Given the description of an element on the screen output the (x, y) to click on. 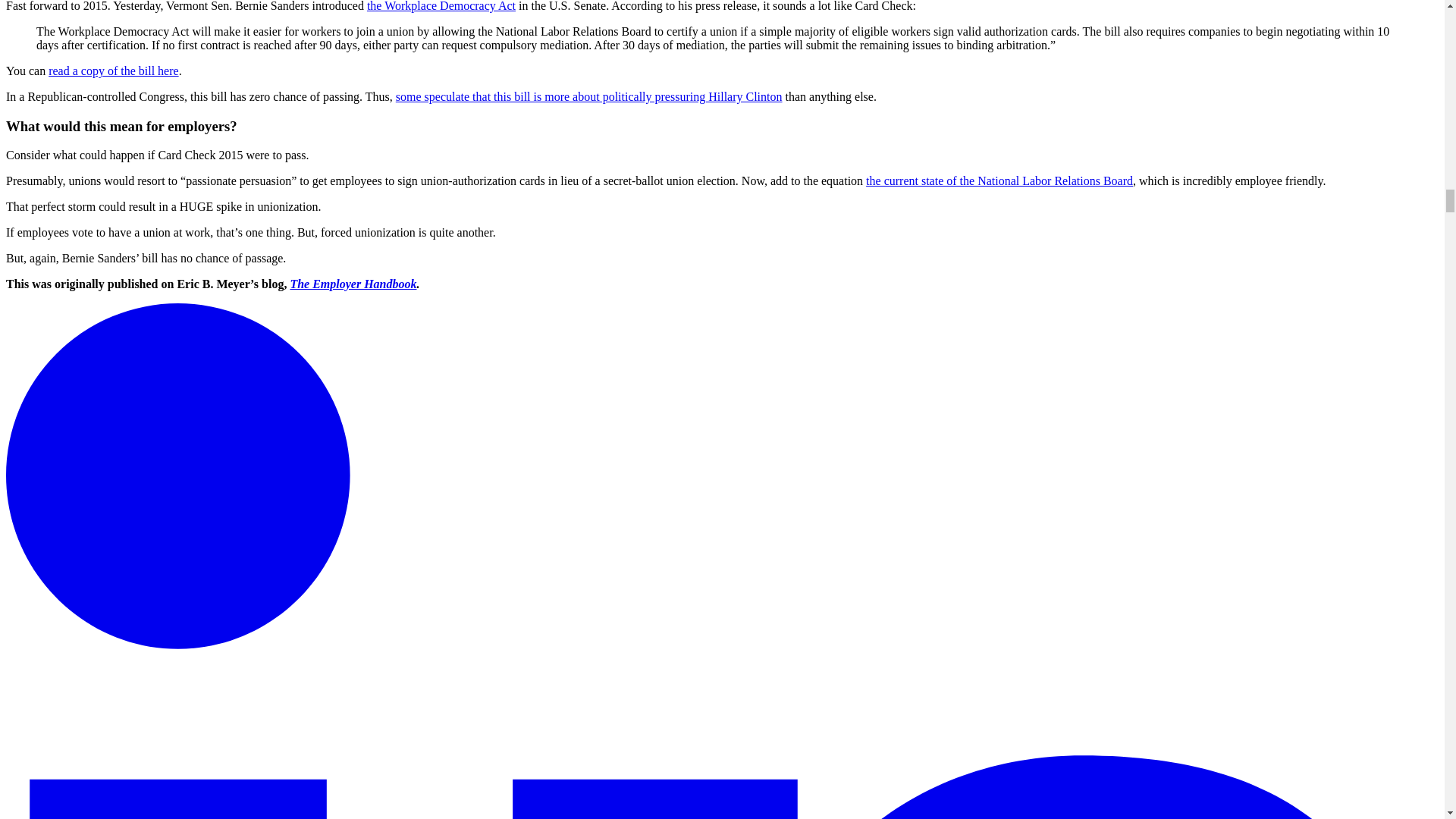
the Workplace Democracy Act (440, 6)
the current state of the National Labor Relations Board (999, 180)
The Employer Handbook (352, 283)
read a copy of the bill here (112, 70)
